Given the description of an element on the screen output the (x, y) to click on. 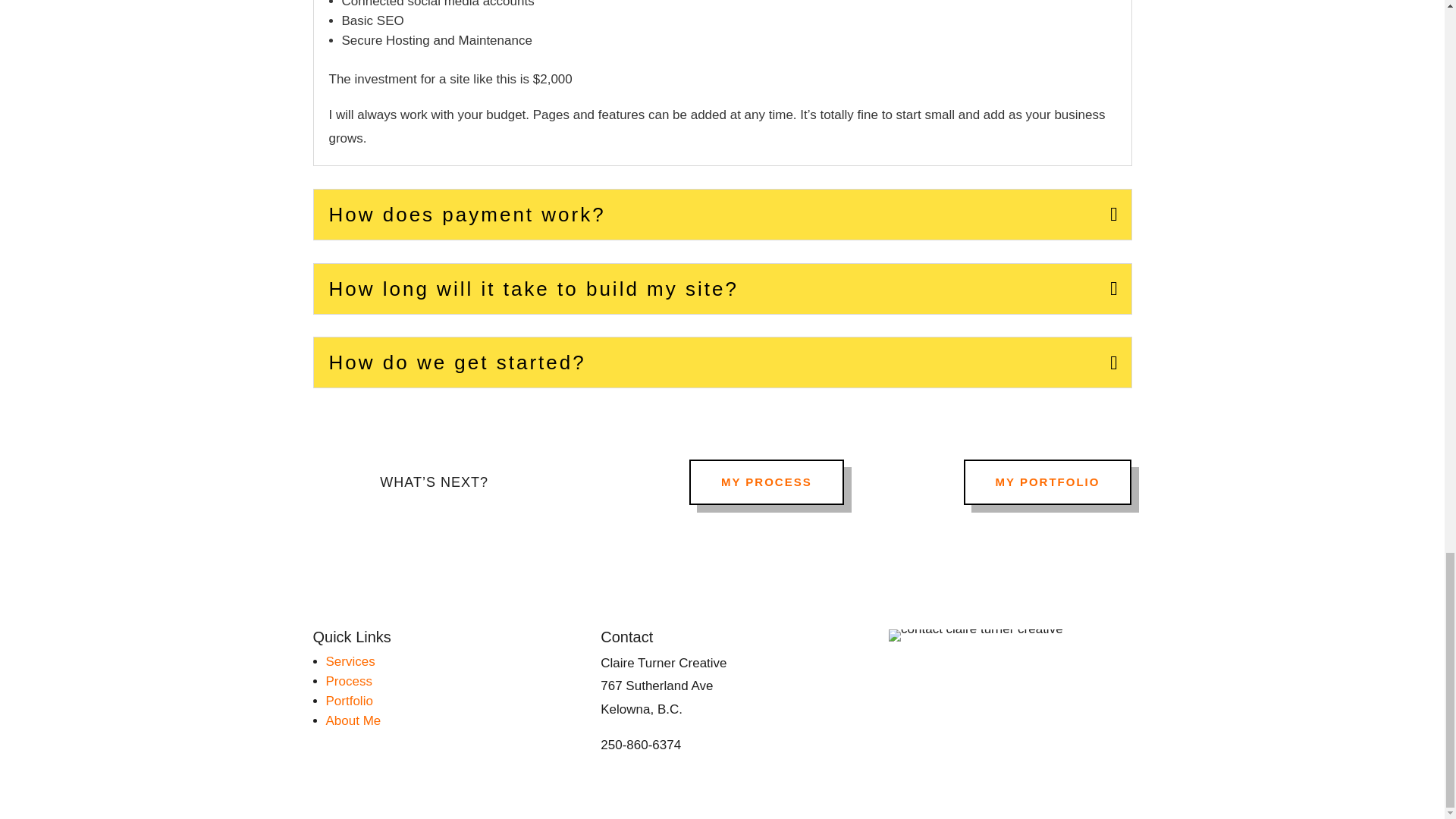
process (349, 681)
portfolio (349, 700)
MY PORTFOLIO (1047, 482)
Portfolio (349, 700)
Process (349, 681)
About Me (353, 720)
Services (350, 661)
About (353, 720)
contact-birds (975, 635)
services (350, 661)
